Given the description of an element on the screen output the (x, y) to click on. 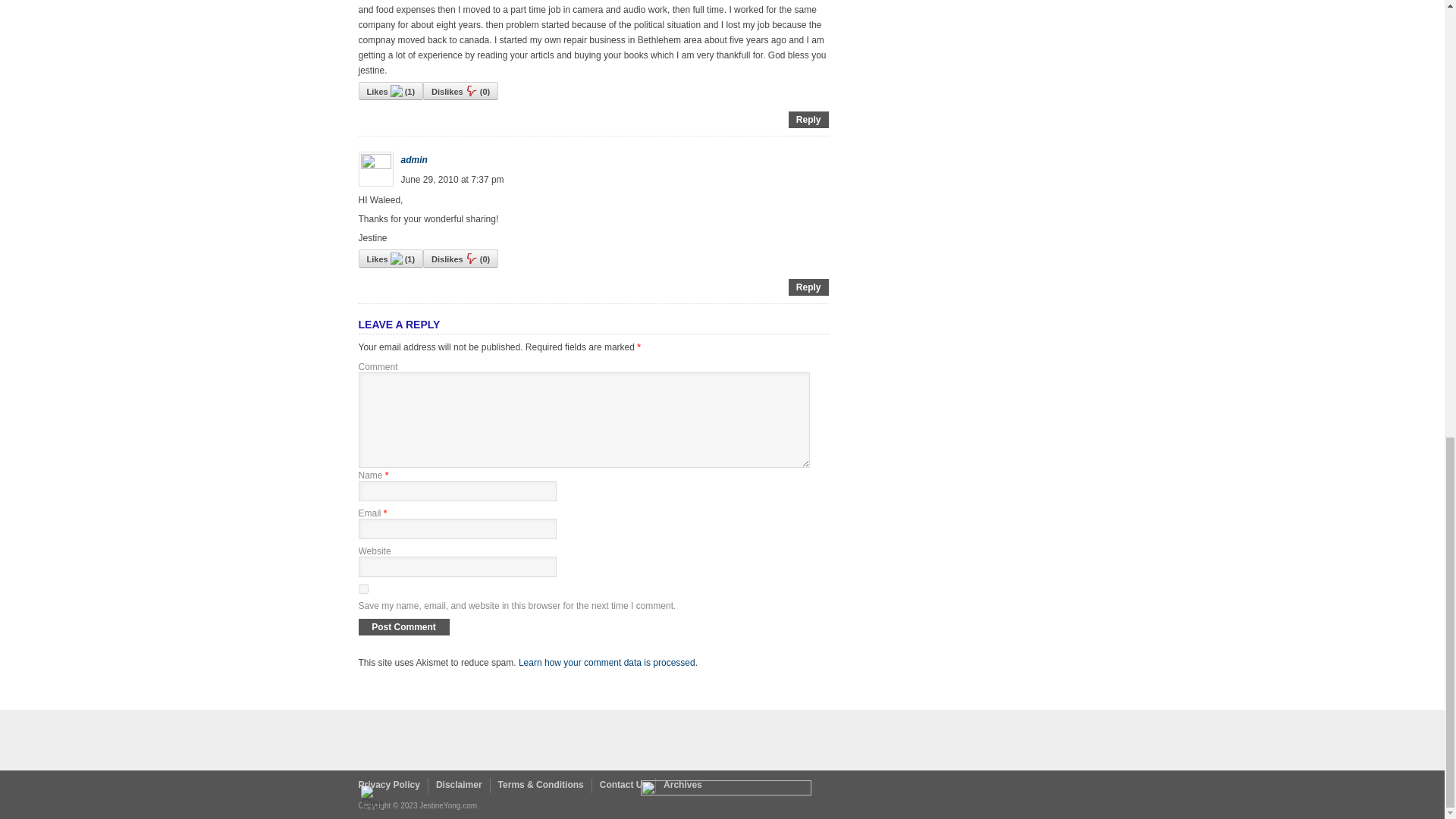
Reply (808, 286)
yes (363, 588)
Reply (808, 119)
admin (413, 159)
Post Comment (403, 627)
Post Comment (403, 627)
Learn how your comment data is processed (606, 662)
